Given the description of an element on the screen output the (x, y) to click on. 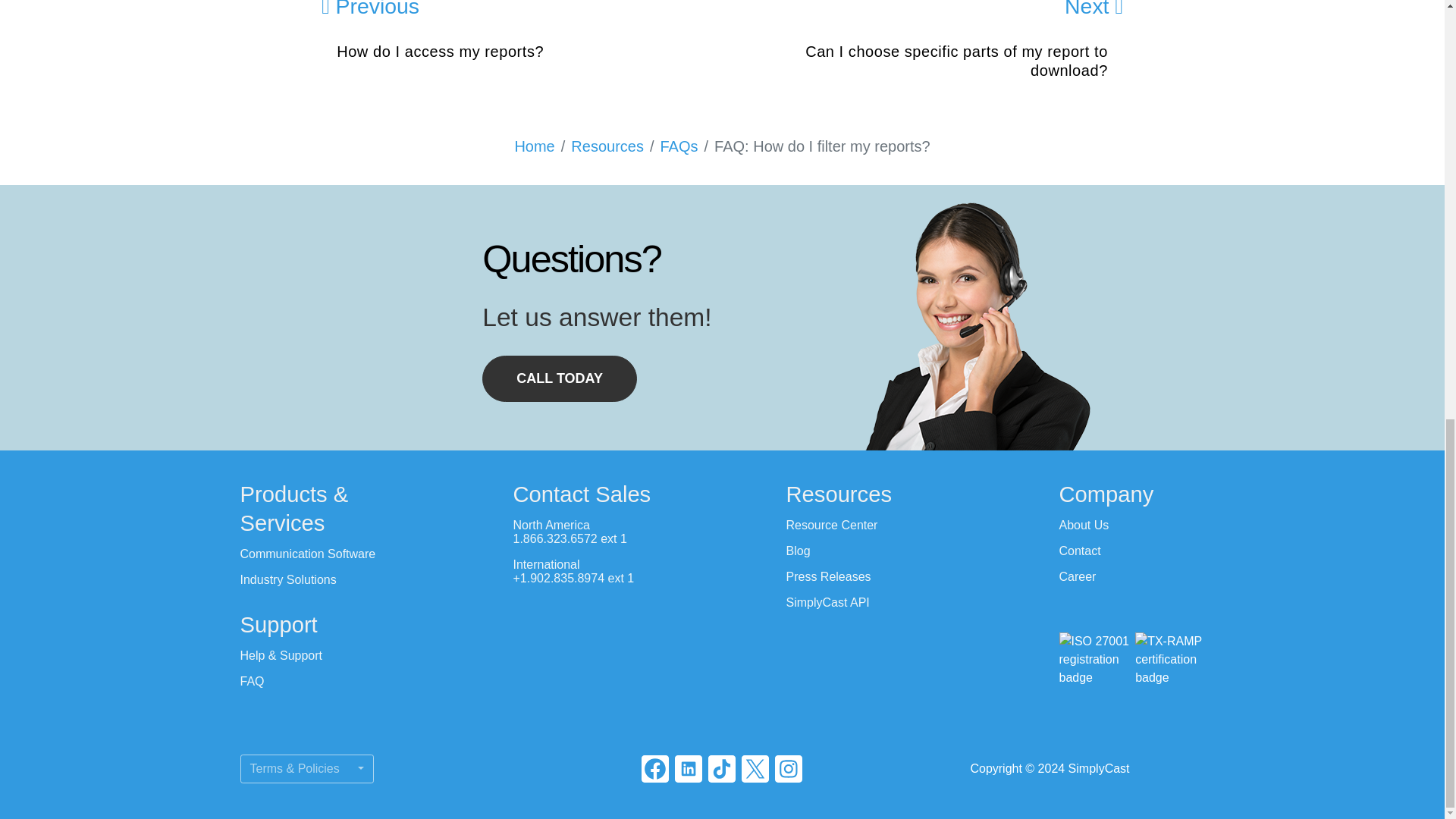
SimplyCast on Instagram (788, 768)
SimplyCast on TikTok (721, 768)
SimplyCast on Facebook (655, 768)
SimplyCast on LinkedIn (688, 768)
SimplyCast on Twitter (754, 768)
